Given the description of an element on the screen output the (x, y) to click on. 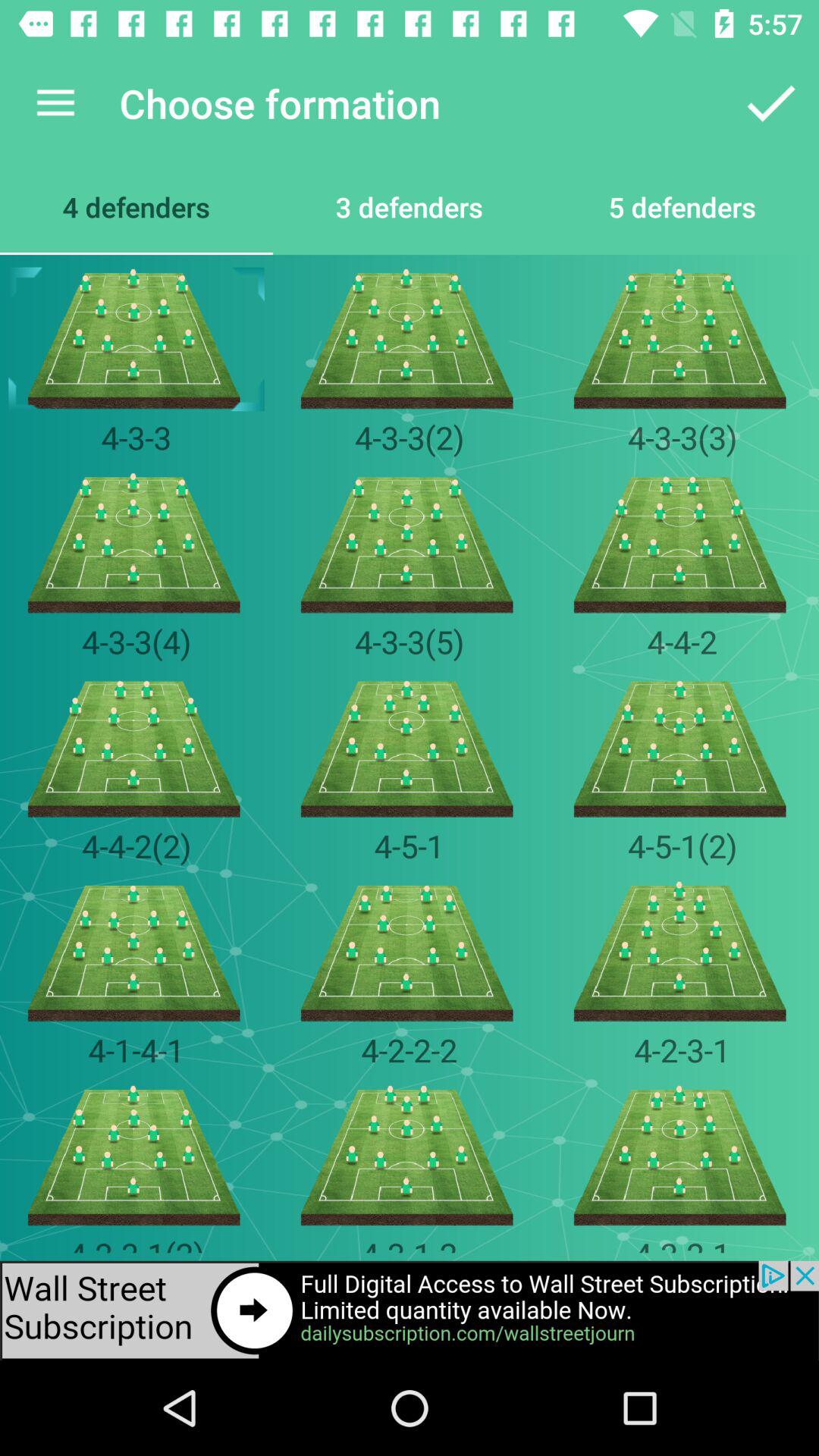
advertisement for subscription (409, 1310)
